Given the description of an element on the screen output the (x, y) to click on. 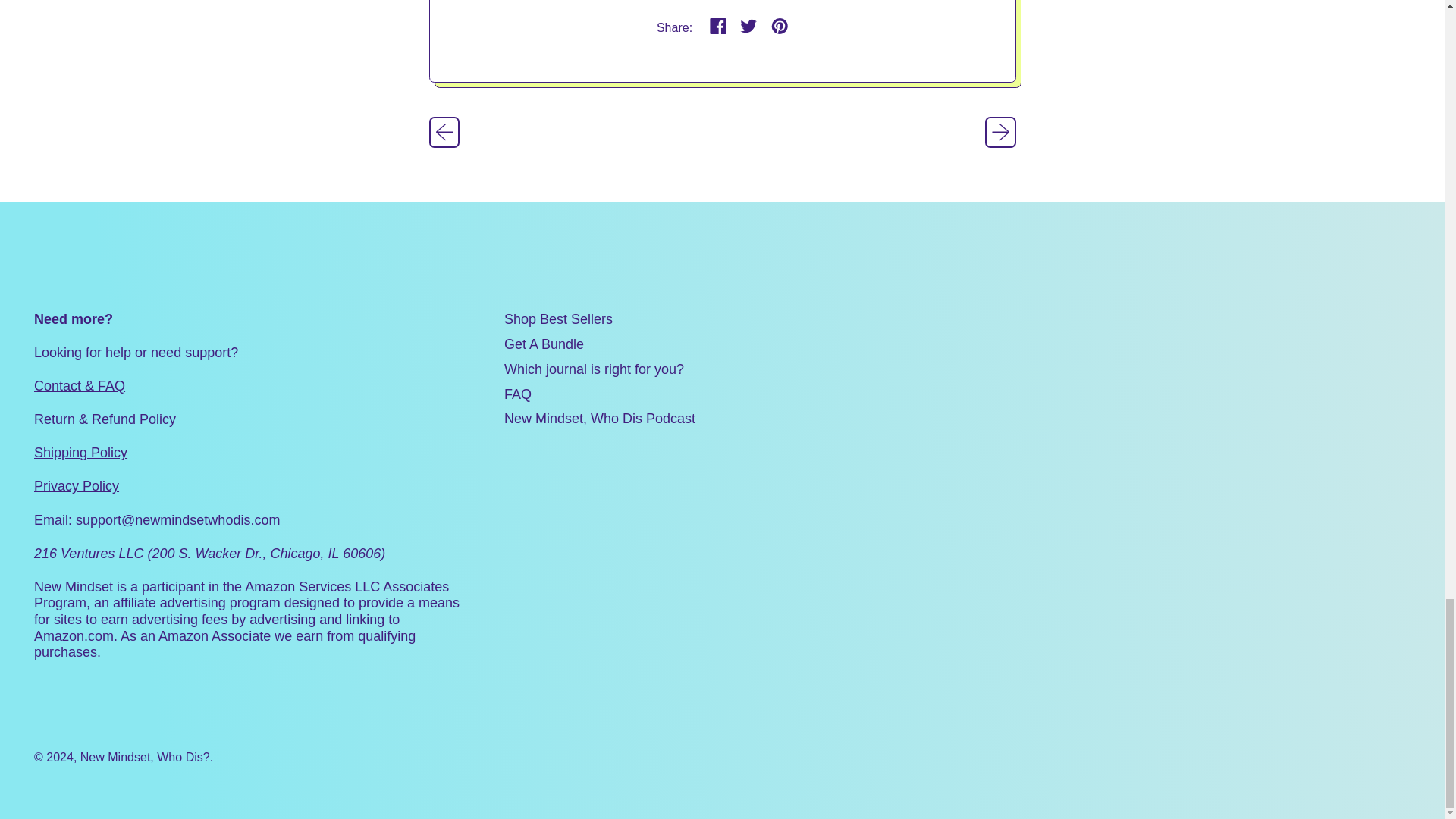
Which journal is right for you? (593, 368)
Shipping Policy (80, 452)
Privacy Policy (76, 485)
New Mindset, Who Dis? (144, 756)
New Mindset, Who Dis Podcast (599, 418)
FAQ (517, 394)
Get A Bundle (543, 344)
Privacy Policy (76, 485)
Pin on Pinterest (779, 27)
Tweet on Twitter (748, 27)
